Given the description of an element on the screen output the (x, y) to click on. 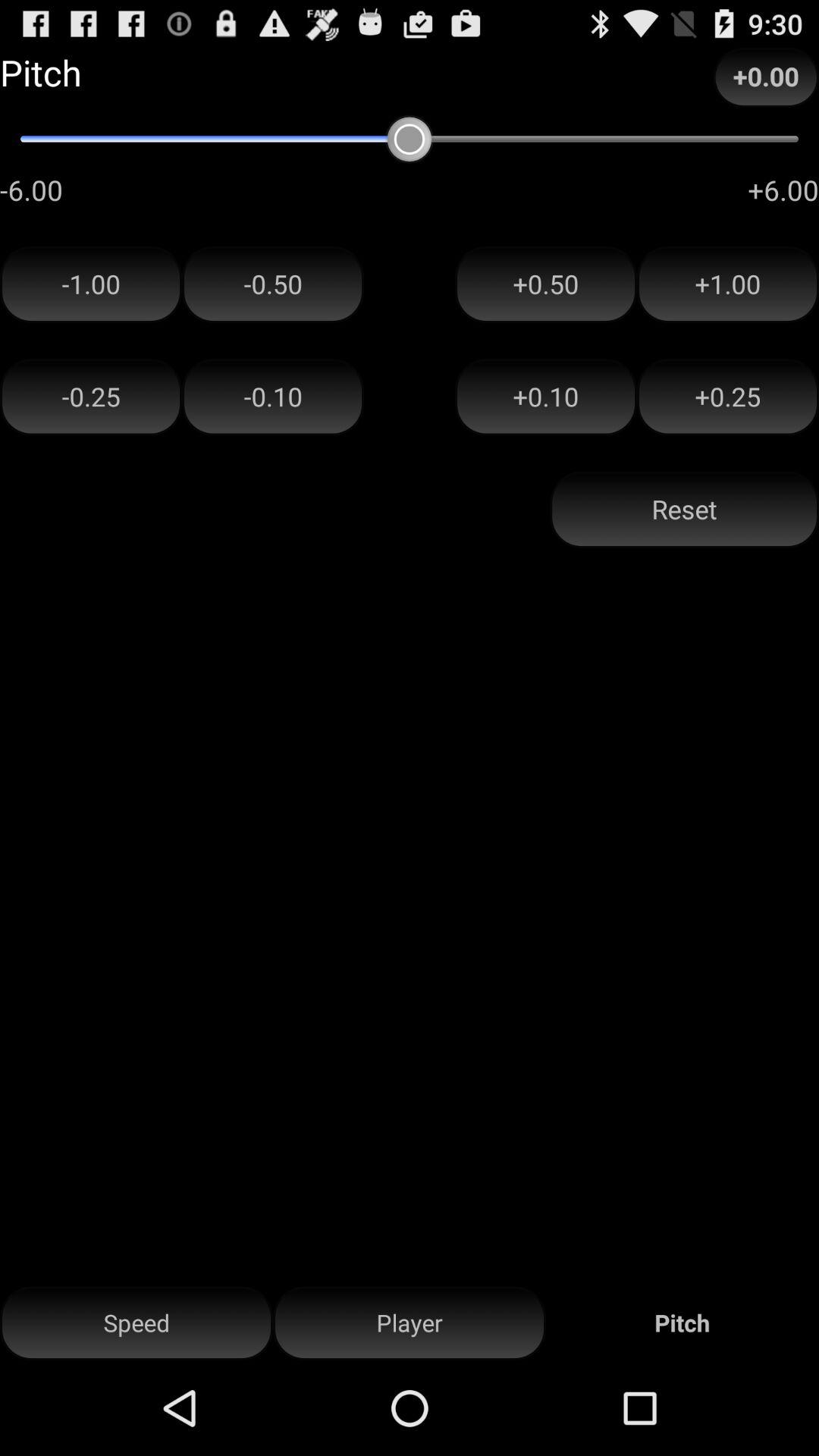
open item next to speed item (409, 1323)
